Given the description of an element on the screen output the (x, y) to click on. 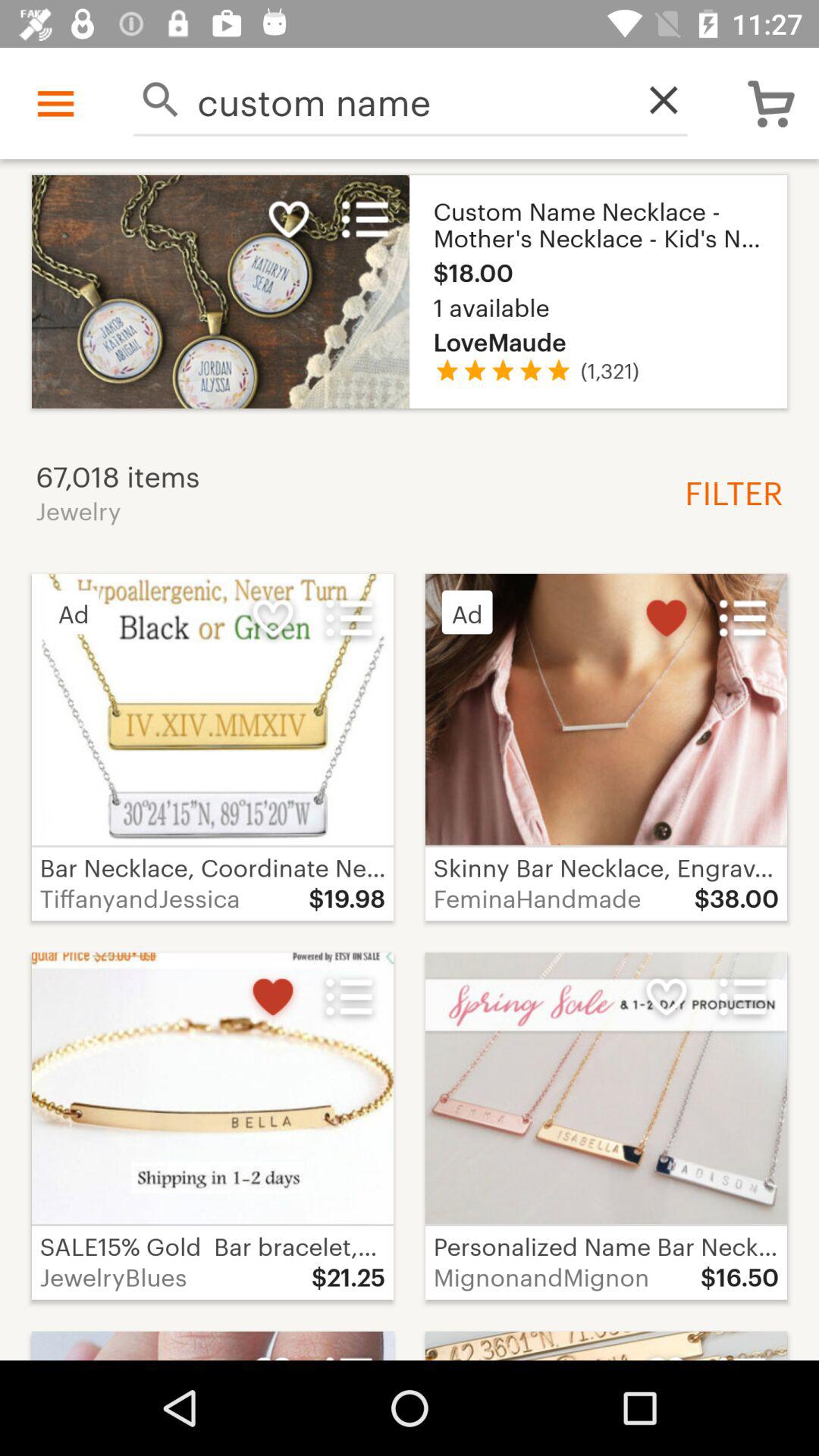
the second white colored heart icon of the page (273, 617)
select search bar (165, 100)
select the image which has price 2125 (212, 1126)
click the image below filter (606, 709)
